Given the description of an element on the screen output the (x, y) to click on. 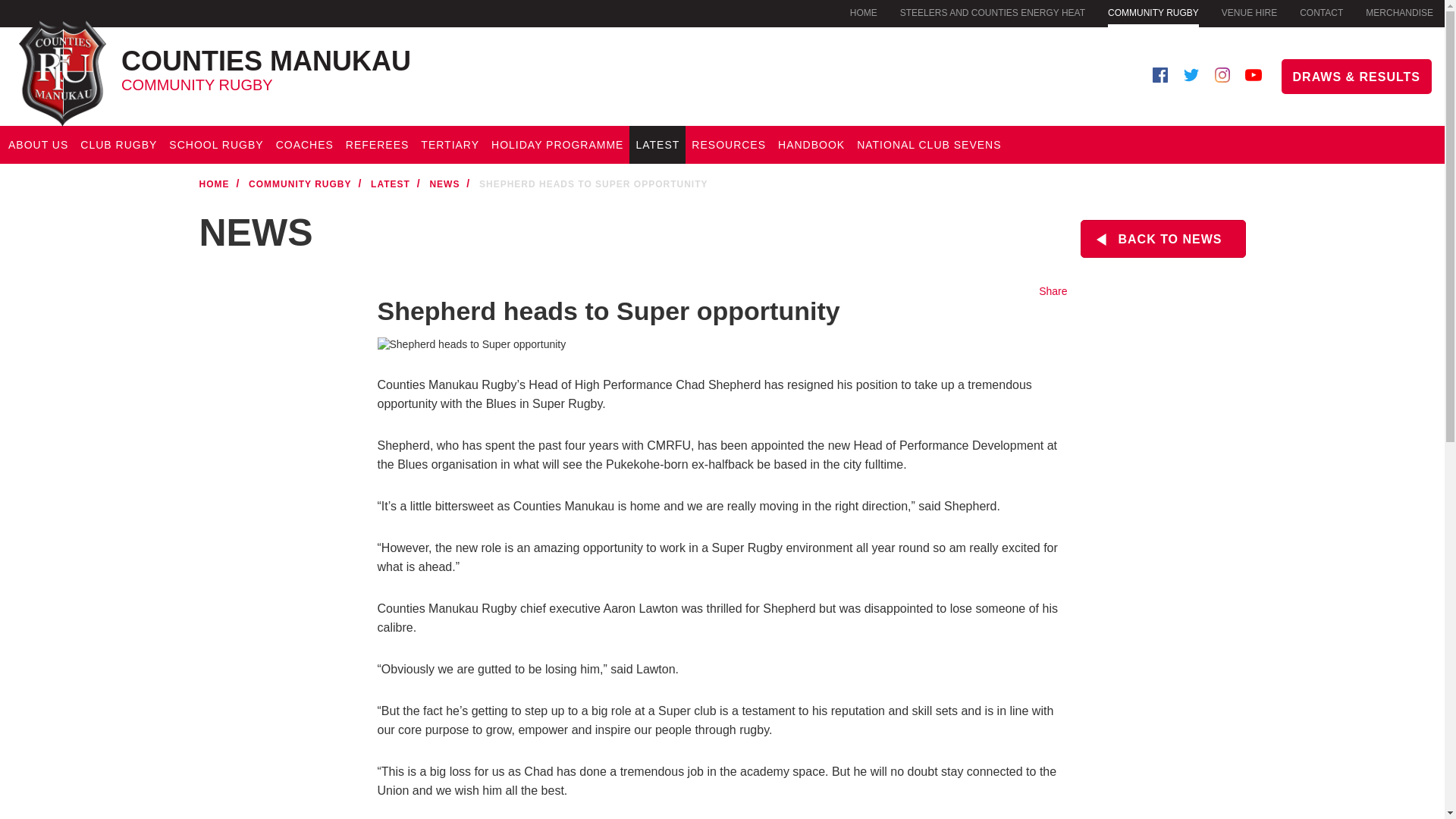
VENUE HIRE (1248, 12)
ABOUT US (38, 144)
CLUB RUGBY (118, 144)
STEELERS AND COUNTIES ENERGY HEAT (991, 12)
HOME (863, 12)
CONTACT (1321, 12)
SCHOOL RUGBY (216, 144)
MERCHANDISE (364, 63)
COMMUNITY RUGBY (1398, 12)
